Given the description of an element on the screen output the (x, y) to click on. 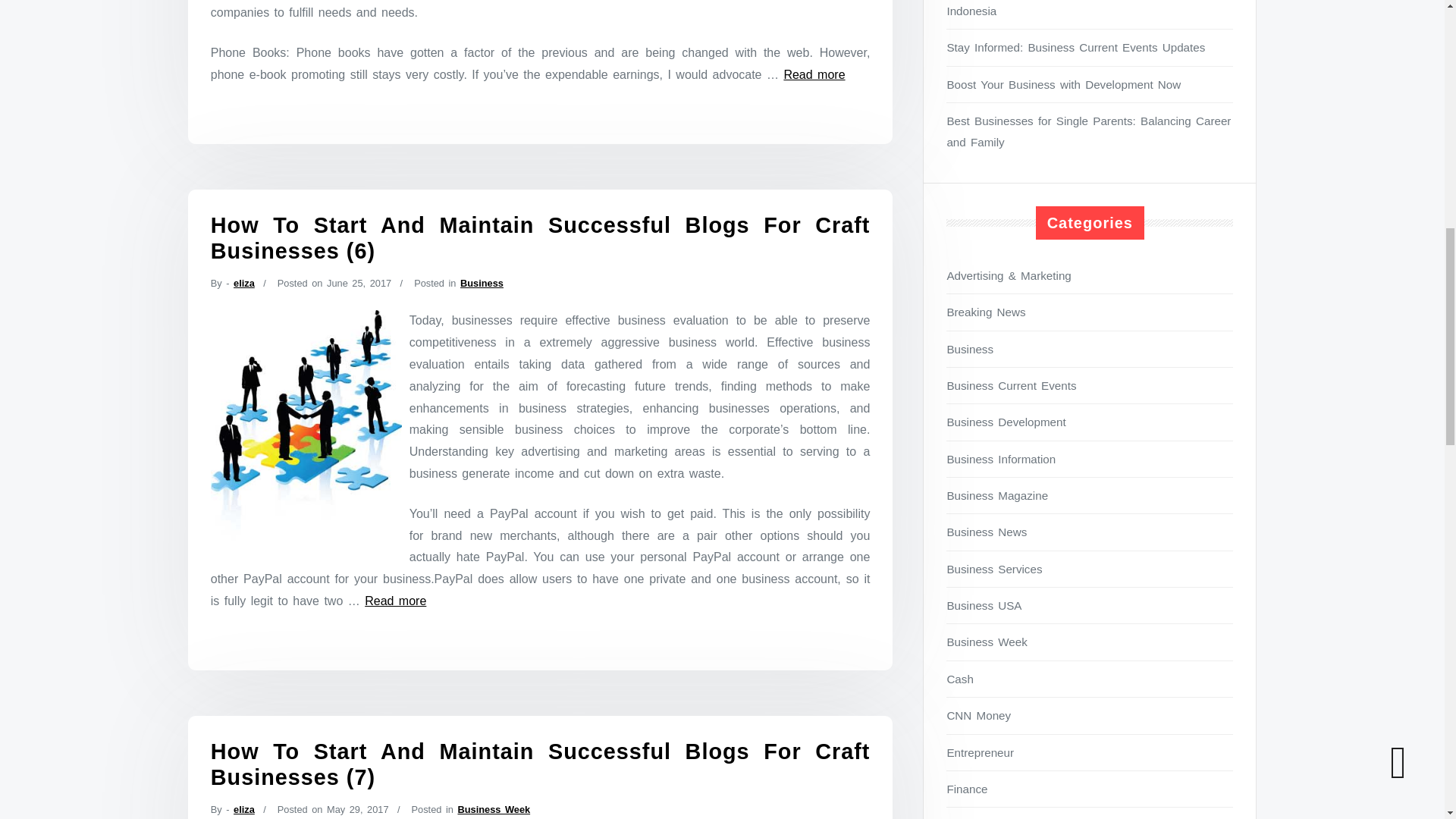
eliza (243, 283)
eliza (243, 808)
Read more (813, 74)
Business (481, 283)
Business Week (493, 808)
Read more (395, 600)
